Given the description of an element on the screen output the (x, y) to click on. 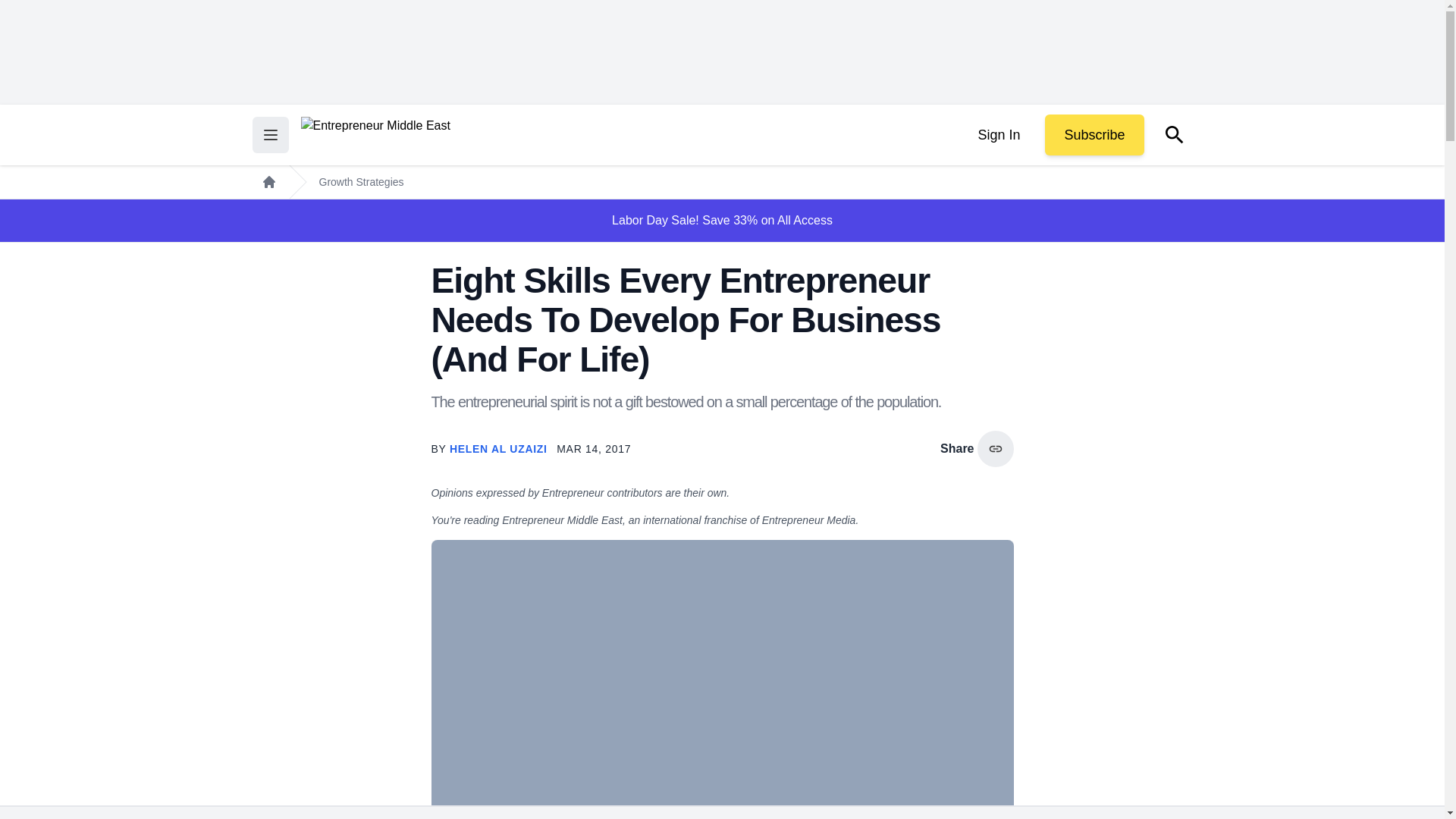
Sign In (998, 134)
Subscribe (1093, 134)
Return to the home page (374, 135)
copy (994, 448)
